Given the description of an element on the screen output the (x, y) to click on. 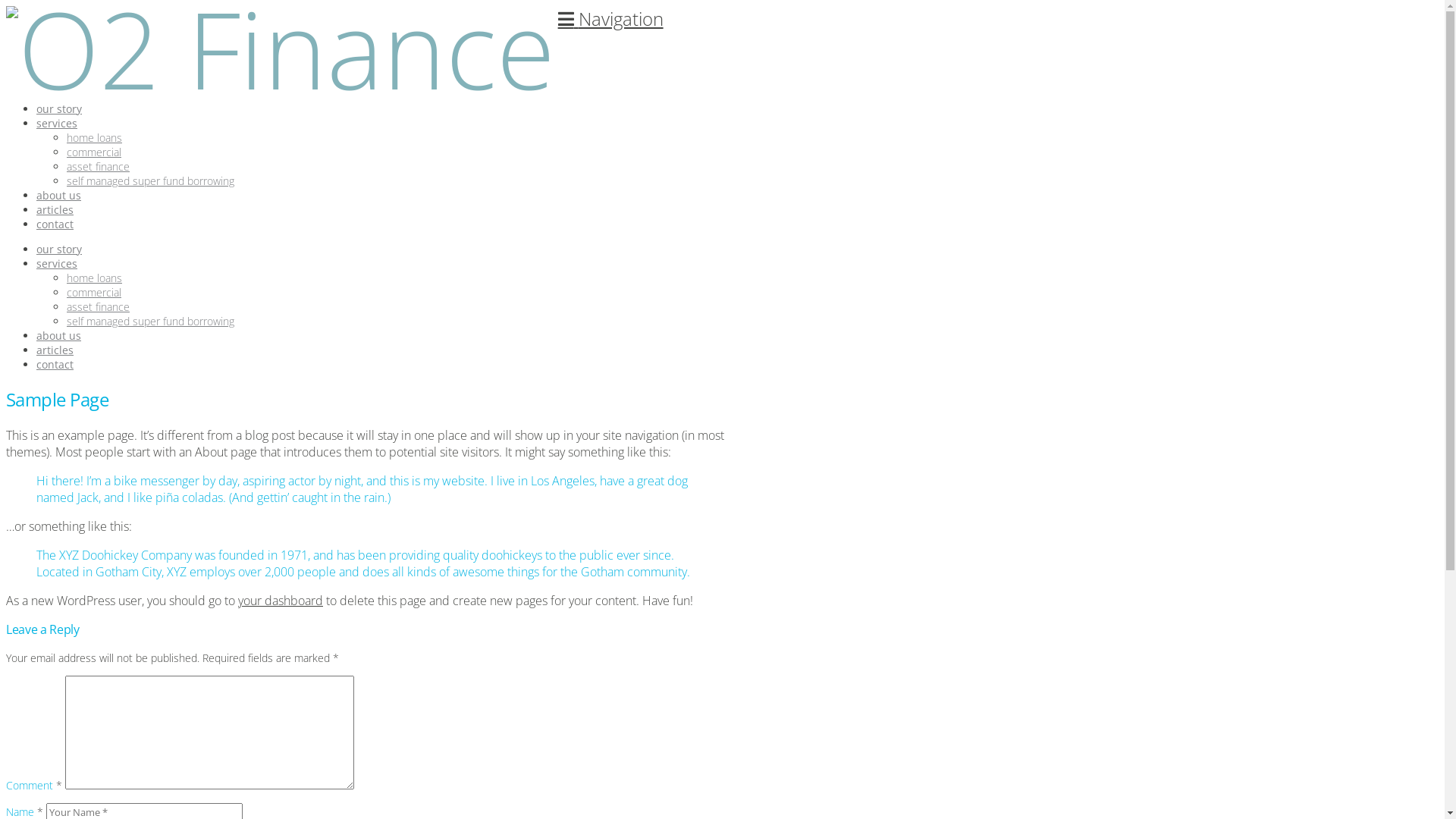
Navigation Element type: text (610, 18)
contact Element type: text (54, 364)
articles Element type: text (54, 349)
articles Element type: text (61, 201)
commercial Element type: text (93, 151)
home loans Element type: text (94, 137)
asset finance Element type: text (97, 166)
about us Element type: text (58, 335)
asset finance Element type: text (97, 306)
self managed super fund borrowing Element type: text (150, 320)
services Element type: text (56, 263)
commercial Element type: text (93, 292)
contact Element type: text (61, 216)
self managed super fund borrowing Element type: text (150, 180)
our story Element type: text (58, 248)
services Element type: text (63, 115)
your dashboard Element type: text (280, 600)
home loans Element type: text (94, 277)
our story Element type: text (65, 100)
about us Element type: text (65, 187)
